Given the description of an element on the screen output the (x, y) to click on. 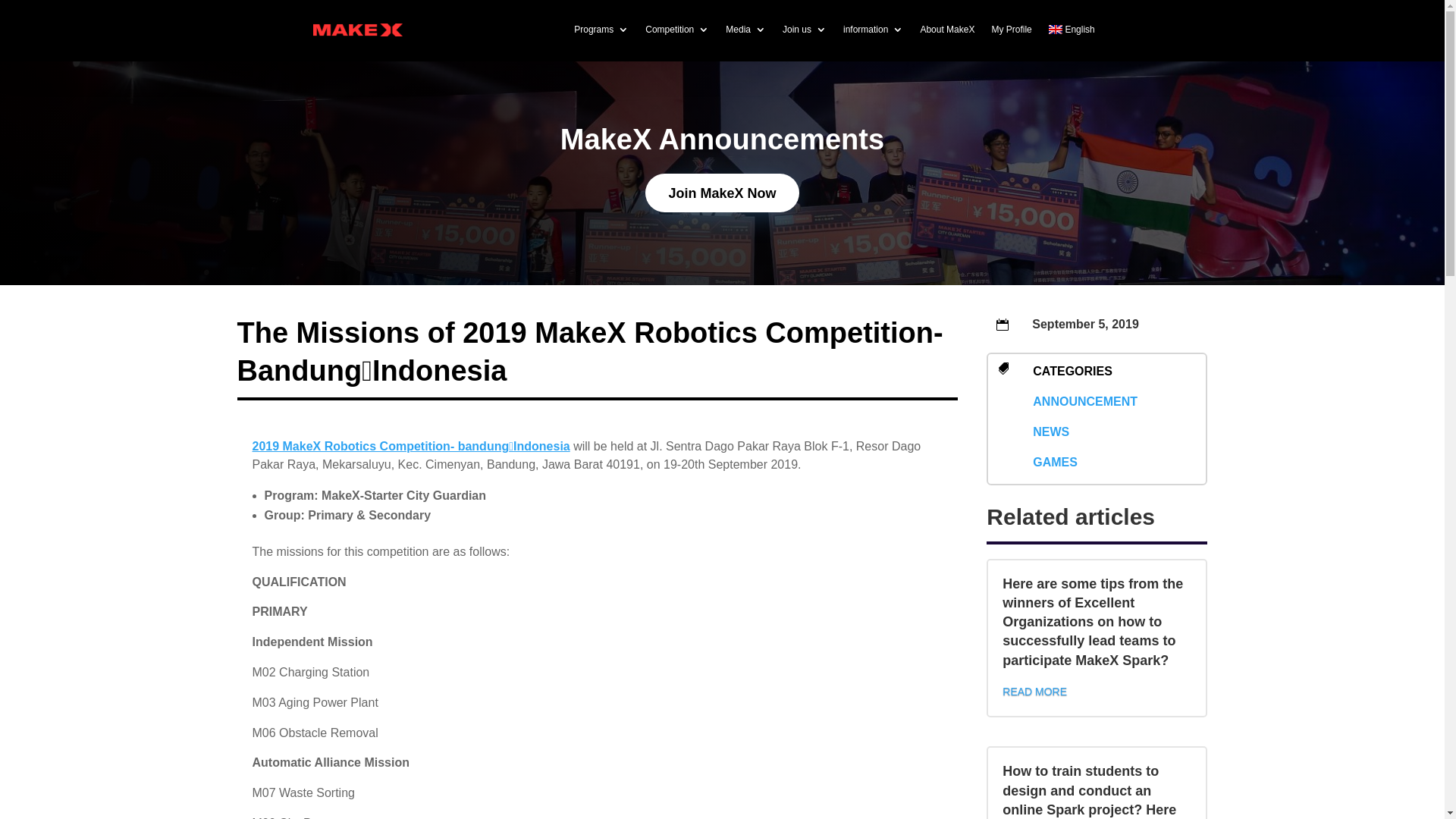
GAMES Element type: text (1054, 461)
information Element type: text (873, 29)
Media Element type: text (745, 29)
Join us Element type: text (804, 29)
READ MORE Element type: text (1034, 691)
About MakeX Element type: text (946, 29)
Announcements Element type: text (771, 139)
Competition Element type: text (677, 29)
Join MakeX Now Element type: text (721, 193)
English Element type: text (1071, 29)
Programs Element type: text (601, 29)
ANNOUNCEMENT Element type: text (1084, 401)
NEWS Element type: text (1050, 431)
My Profile Element type: text (1011, 29)
